Given the description of an element on the screen output the (x, y) to click on. 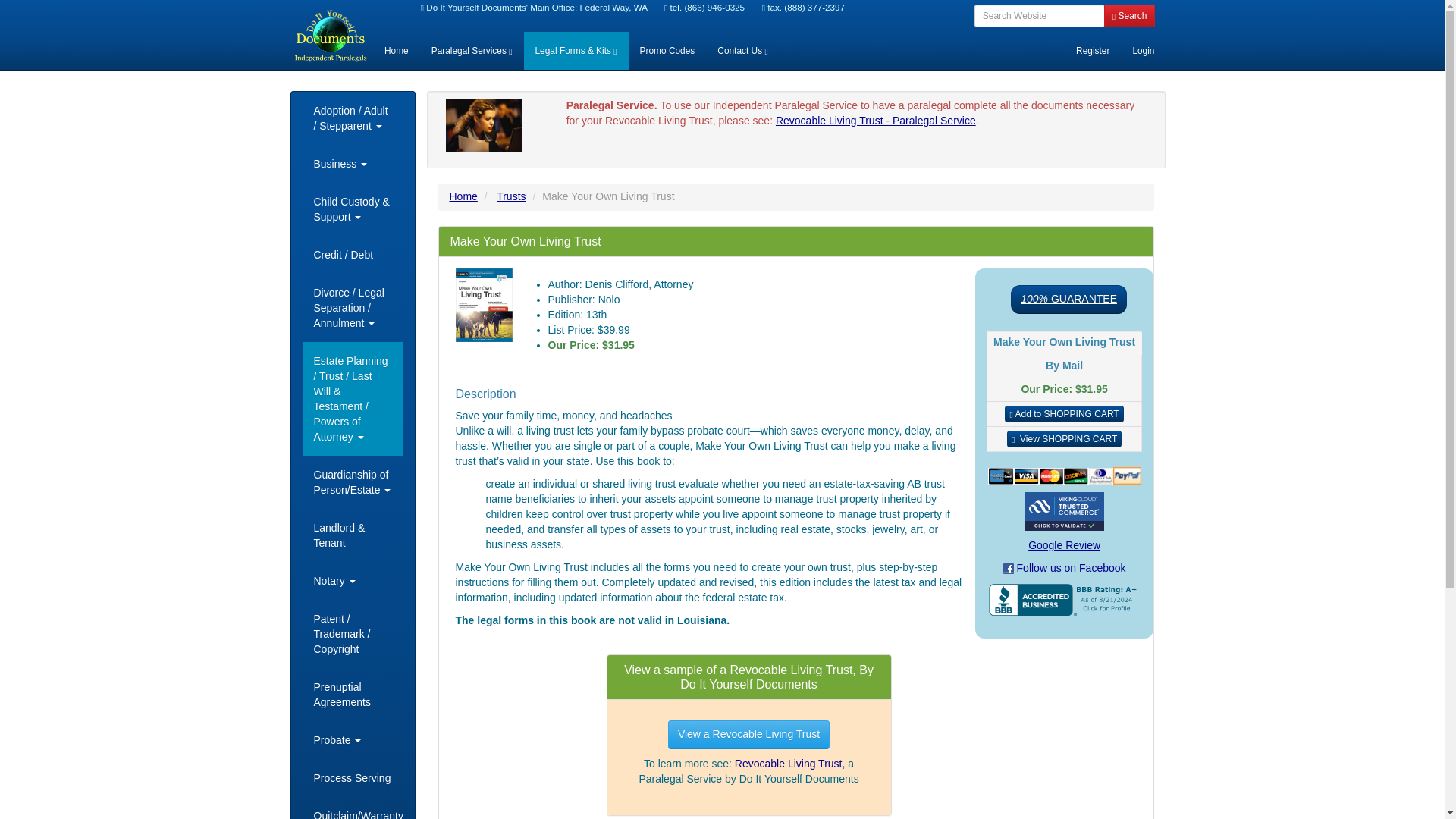
Paralegal Services offered by Do It Yourself Documents (472, 50)
Do It Yourself Documents' Main Office: Federal Way, WA (536, 7)
Paralegal Services (472, 50)
Do It Yourself Documents Home Page (330, 34)
Do It Yourself Documents Home Webpage (396, 50)
Search (1129, 15)
Home (396, 50)
